Given the description of an element on the screen output the (x, y) to click on. 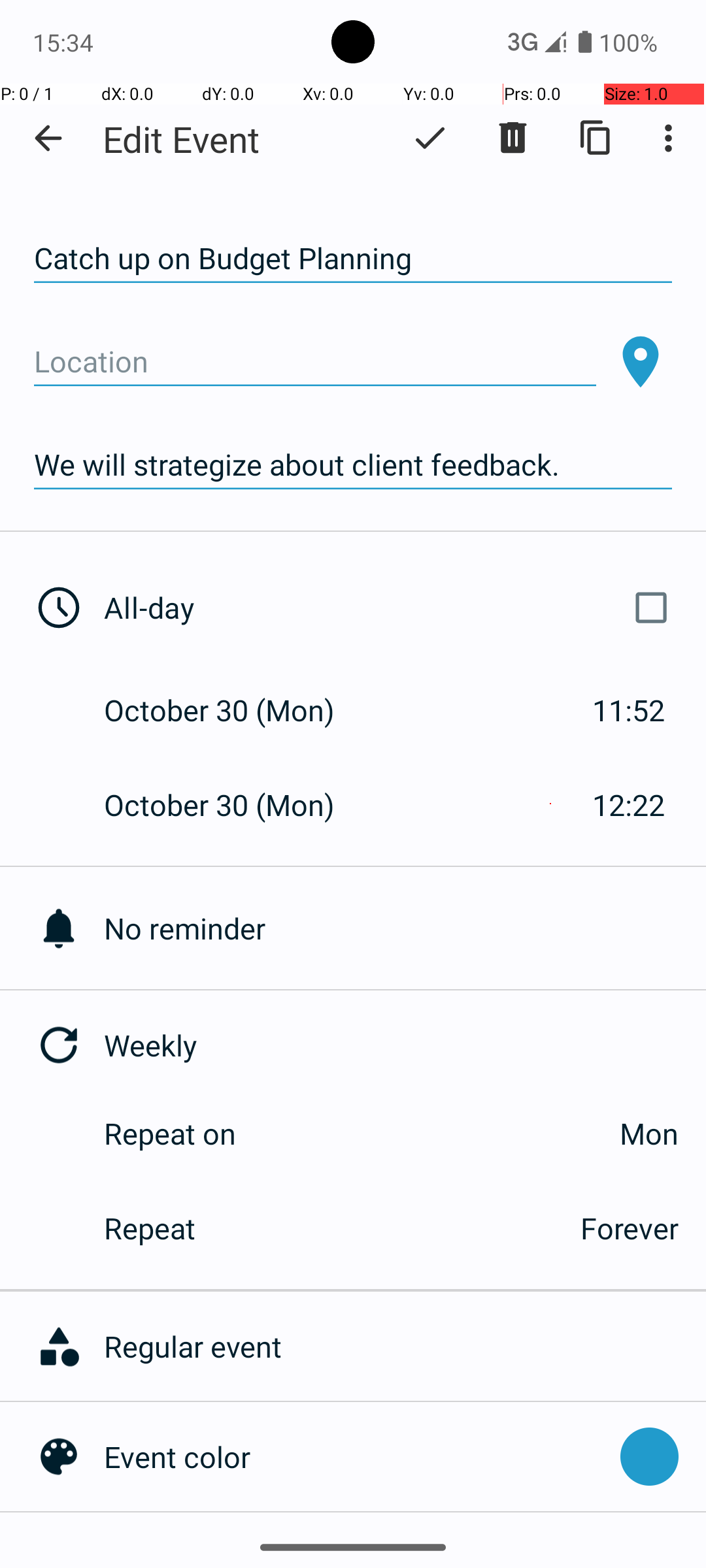
Catch up on Budget Planning Element type: android.widget.EditText (352, 258)
We will strategize about client feedback. Element type: android.widget.EditText (352, 465)
October 30 (Mon) Element type: android.widget.TextView (232, 709)
11:52 Element type: android.widget.TextView (628, 709)
12:22 Element type: android.widget.TextView (628, 804)
Weekly Element type: android.widget.TextView (404, 1044)
Repeat on Element type: android.widget.TextView (169, 1132)
Mon Element type: android.widget.TextView (470, 1132)
Repeat Element type: android.widget.TextView (328, 1227)
Forever Element type: android.widget.TextView (629, 1227)
